Given the description of an element on the screen output the (x, y) to click on. 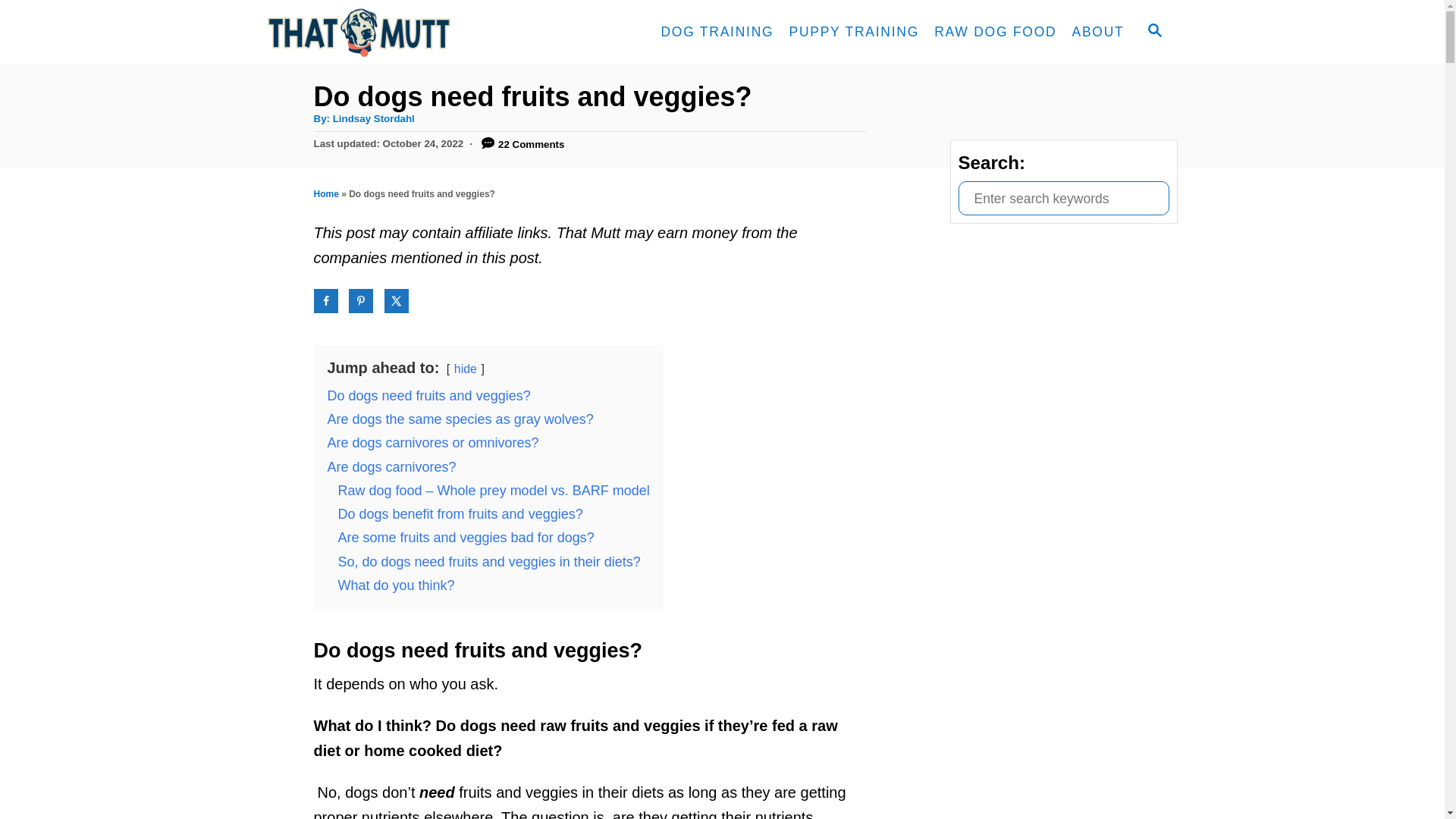
PUPPY TRAINING (853, 32)
Share on X (396, 300)
Share on Facebook (325, 300)
Search for: (1063, 197)
Save to Pinterest (360, 300)
SEARCH (1153, 31)
Do dogs need fruits and veggies? (429, 395)
hide (465, 368)
DOG TRAINING (716, 32)
ThatMutt.com (403, 32)
Are dogs carnivores? (392, 467)
Home (326, 194)
Do dogs benefit from fruits and veggies? (460, 513)
RAW DOG FOOD (995, 32)
Are some fruits and veggies bad for dogs? (465, 537)
